Given the description of an element on the screen output the (x, y) to click on. 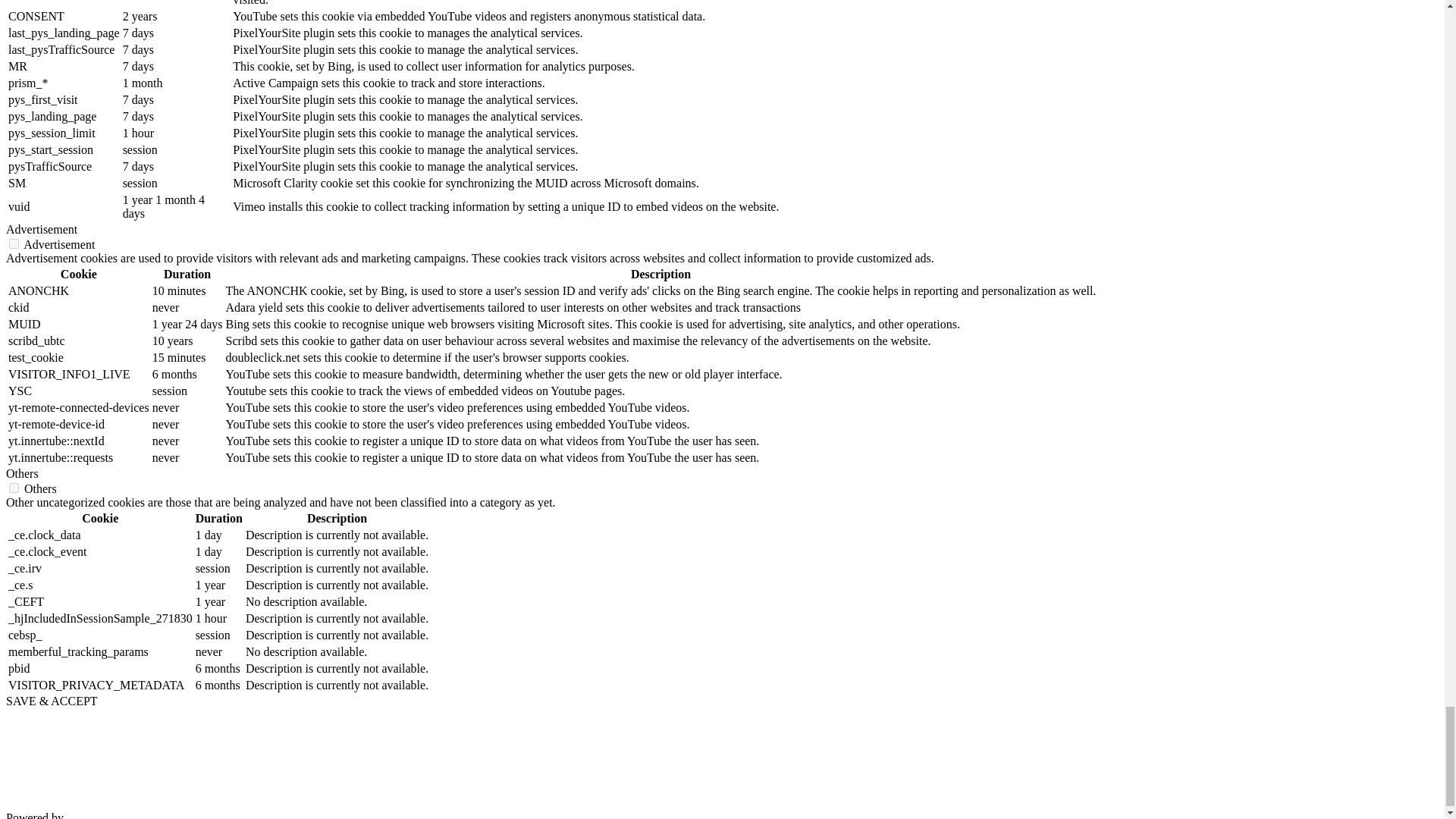
on (13, 243)
on (13, 488)
